Given the description of an element on the screen output the (x, y) to click on. 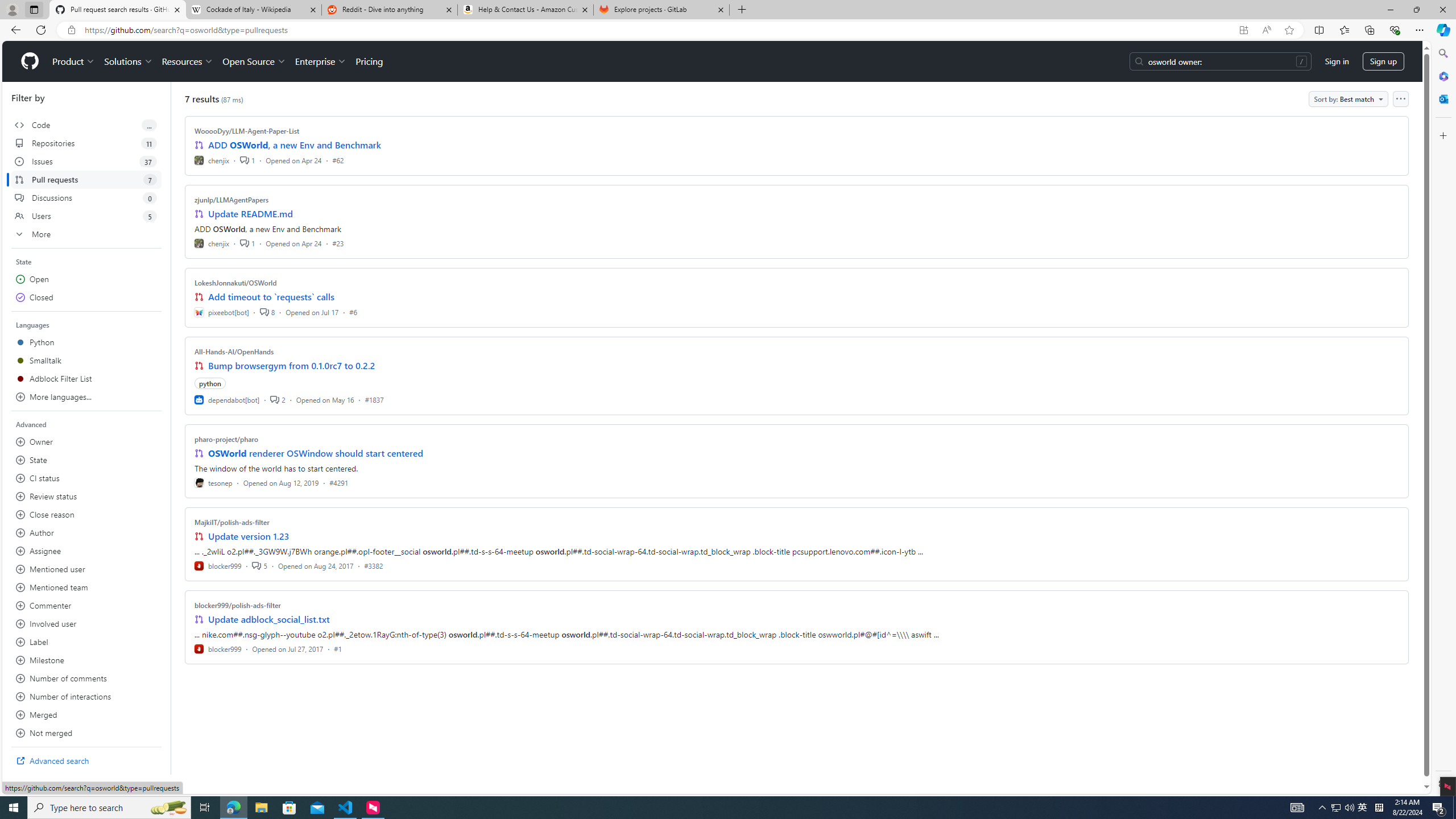
Cockade of Italy - Wikipedia (253, 9)
8 (267, 311)
More languages... (86, 397)
blocker999/polish-ads-filter (238, 605)
WooooDyy/LLM-Agent-Paper-List (247, 130)
Draggable pane splitter (169, 427)
#23 (337, 242)
5 (259, 565)
